Given the description of an element on the screen output the (x, y) to click on. 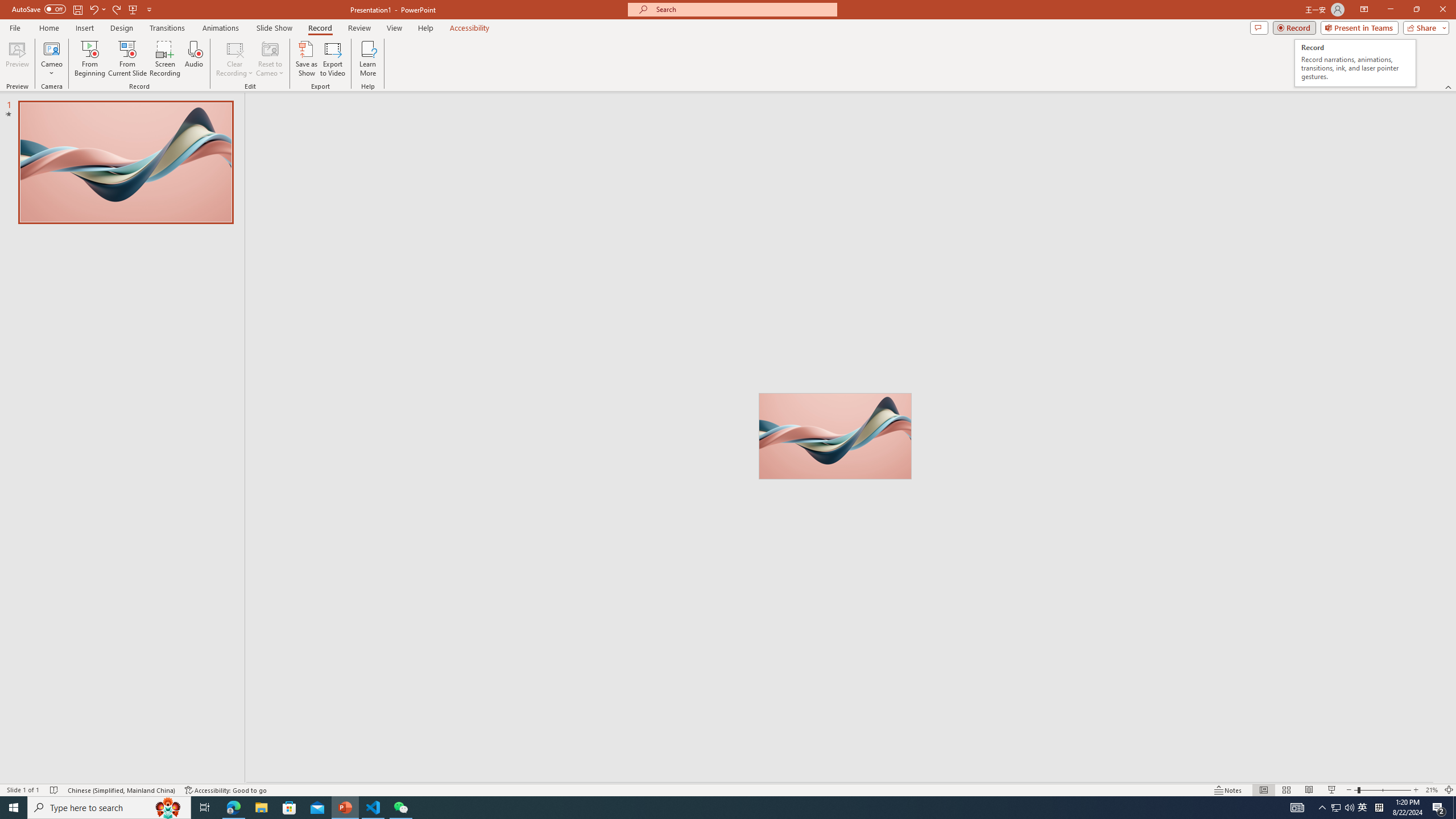
From Current Slide... (127, 58)
Save as Show (306, 58)
Microsoft search (742, 9)
Class: MsoCommandBar (728, 789)
From Beginning... (89, 58)
